Given the description of an element on the screen output the (x, y) to click on. 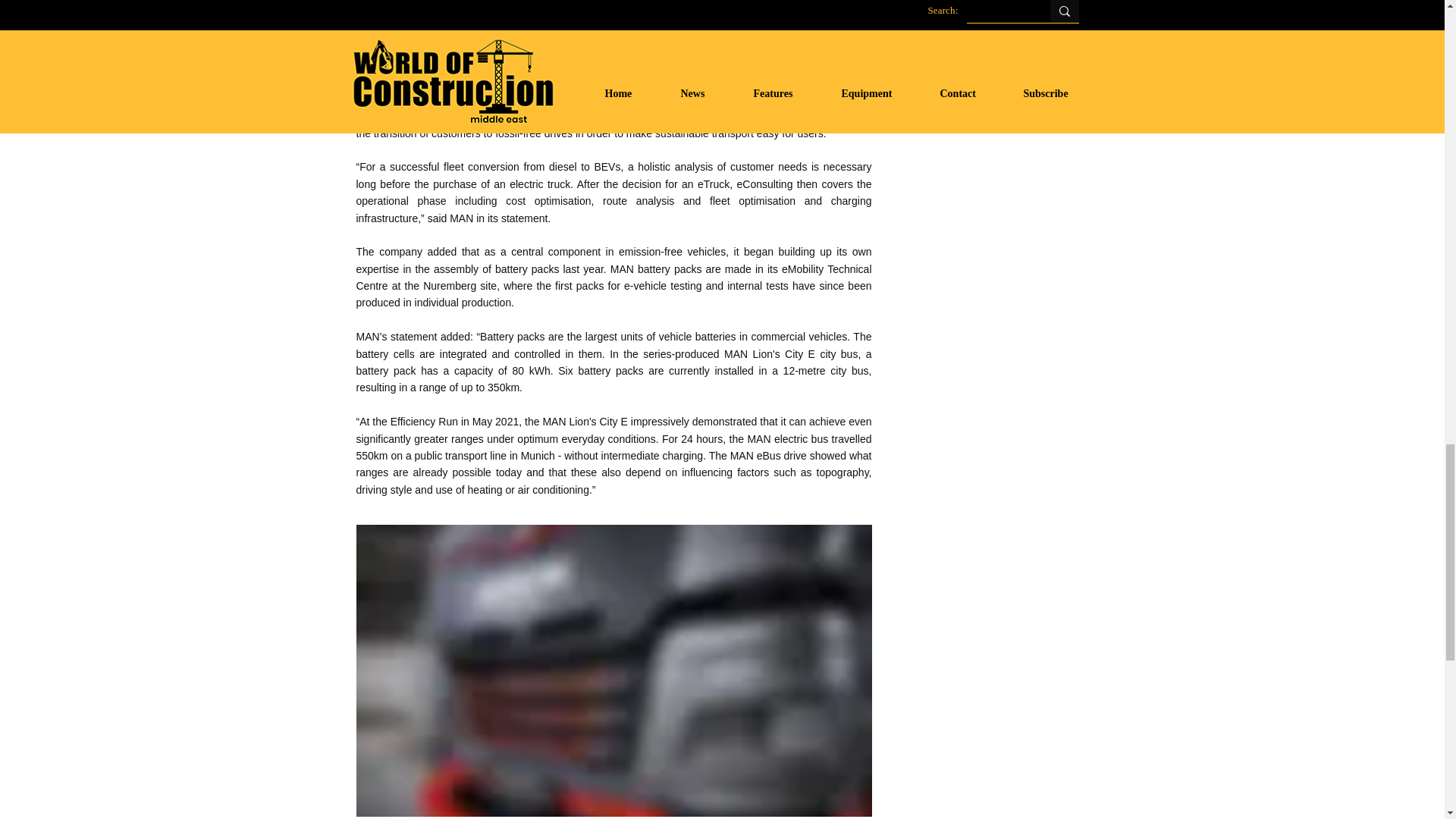
MAN 2 (614, 33)
